Given the description of an element on the screen output the (x, y) to click on. 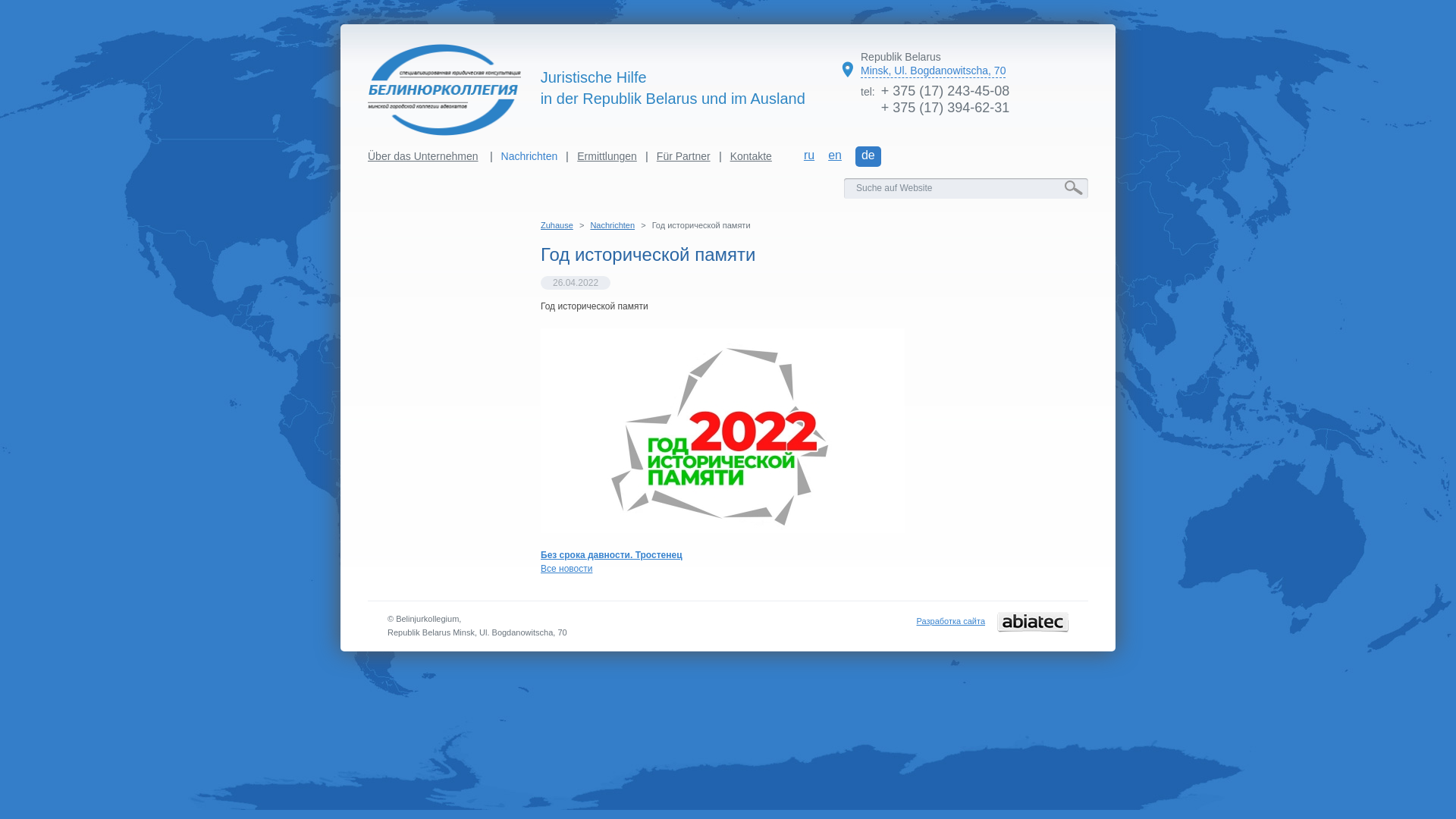
Zuhause Element type: text (556, 224)
Kontakte Element type: text (750, 156)
en Element type: text (834, 156)
Nachrichten Element type: text (611, 224)
Nachrichten Element type: text (529, 156)
ru Element type: text (808, 156)
de Element type: text (868, 156)
Minsk, Ul. Bogdanowitscha, 70 Element type: text (932, 70)
Ermittlungen Element type: text (607, 156)
